Given the description of an element on the screen output the (x, y) to click on. 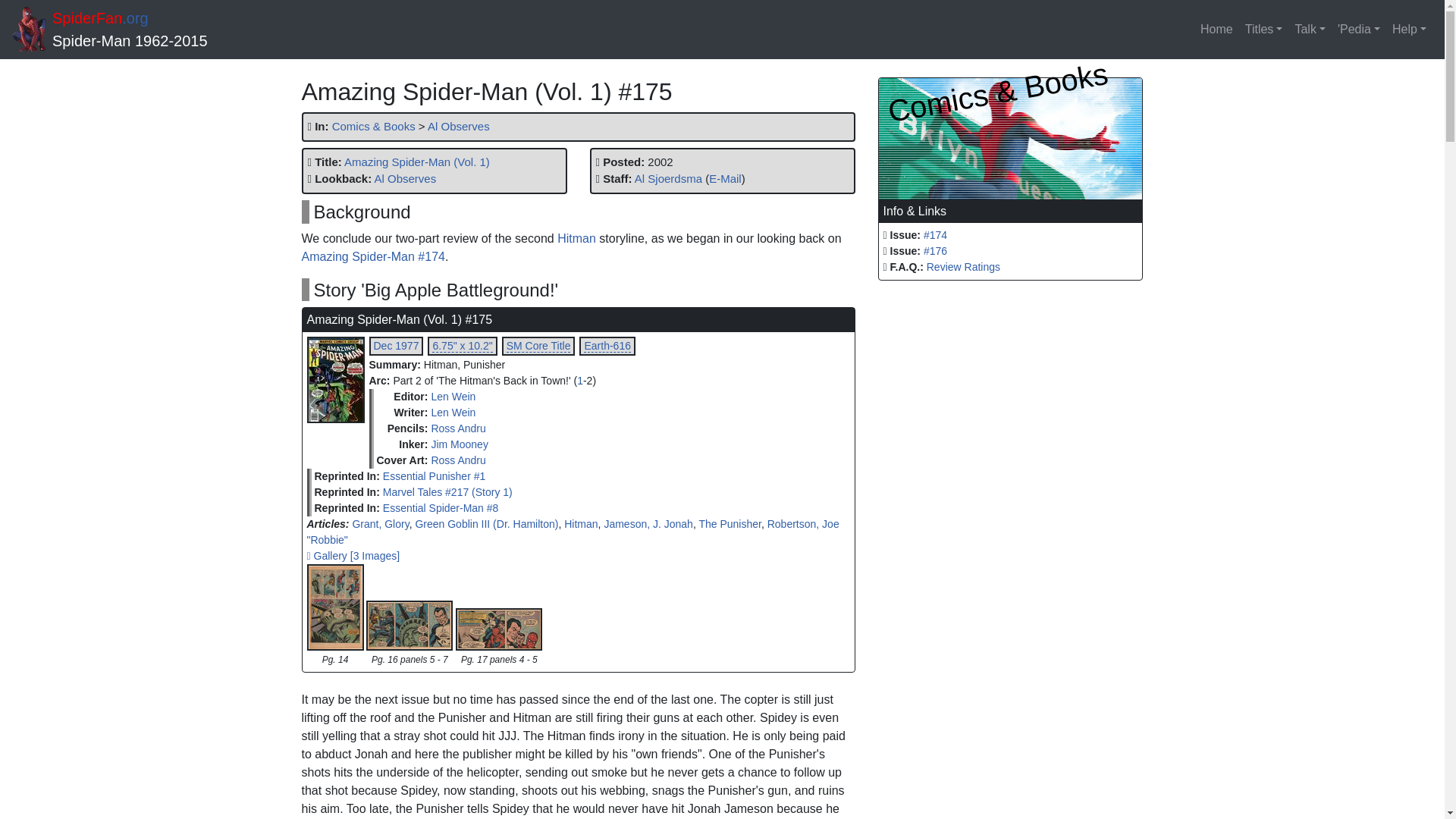
Talk (1310, 29)
Home (1216, 29)
Al Sjoerdsma (667, 178)
Al Observes (405, 178)
Help (1409, 29)
Hitman (576, 237)
Spider-Man 1962-2015 (130, 40)
Titles (1263, 29)
Reprinted in an essentially complete and unchanged format. (345, 476)
Reprinted in an essentially complete and unchanged format. (345, 492)
